Given the description of an element on the screen output the (x, y) to click on. 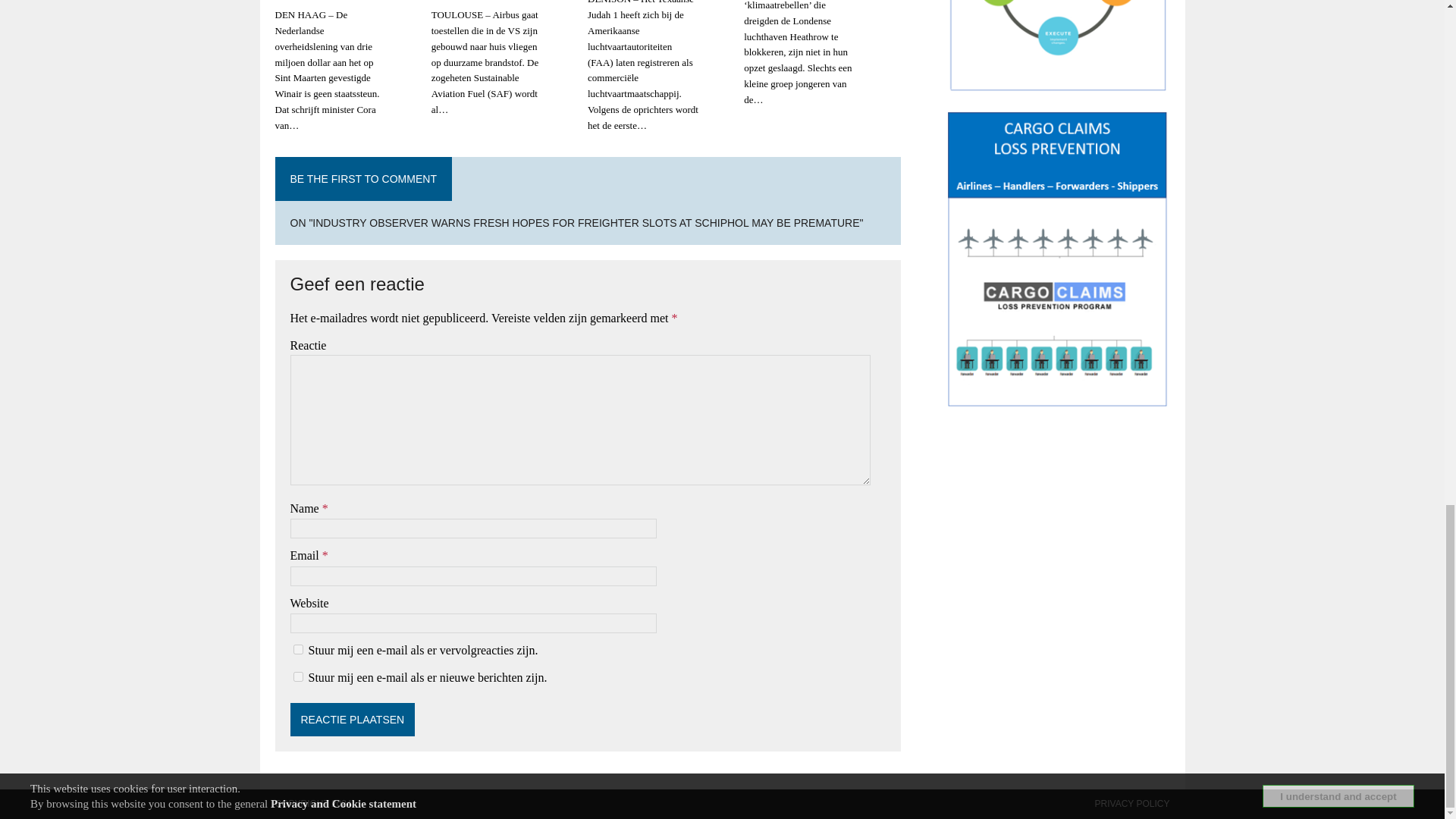
subscribe (297, 649)
subscribe (297, 676)
Reactie plaatsen (351, 719)
